Given the description of an element on the screen output the (x, y) to click on. 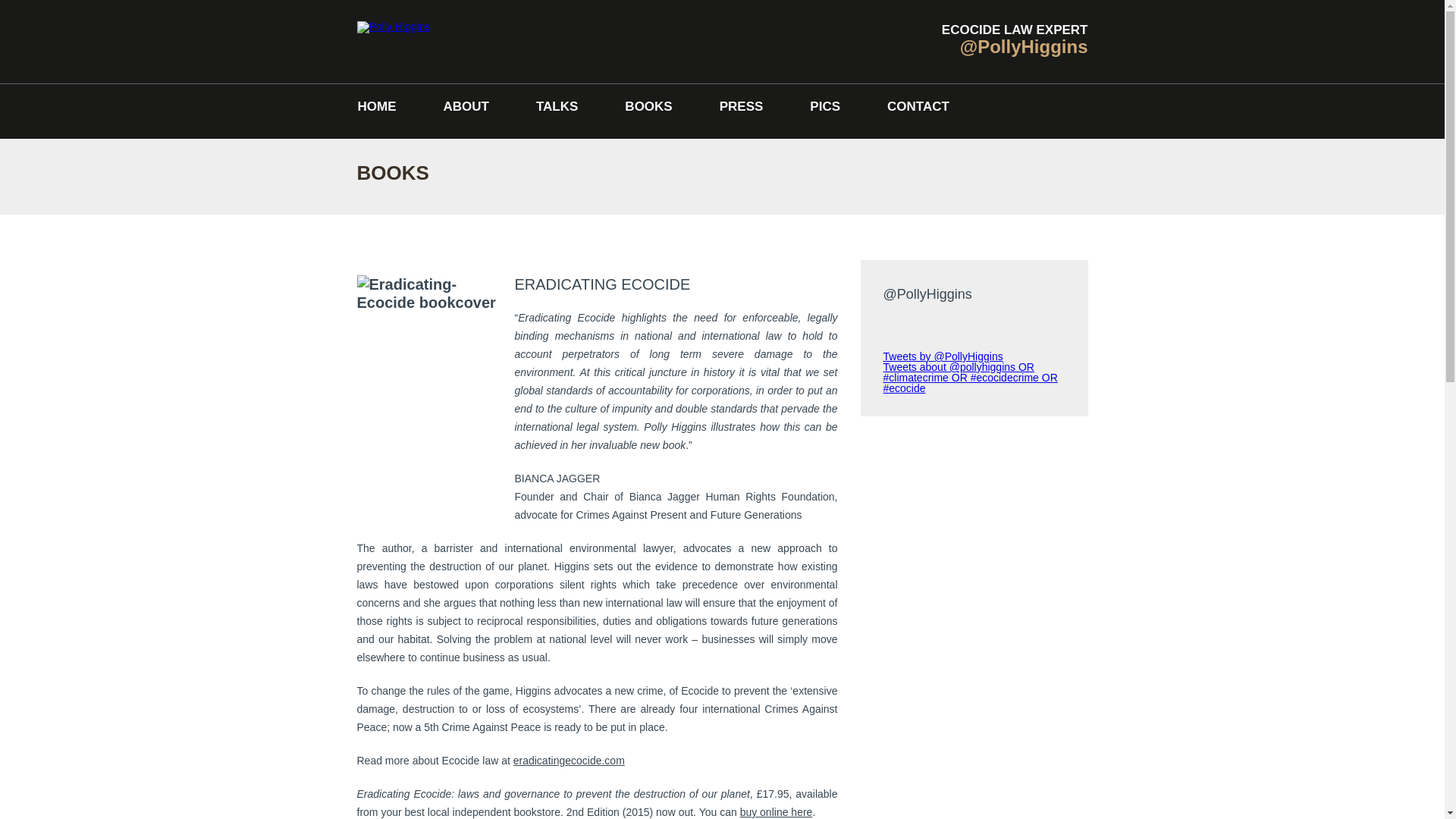
PICS (825, 106)
eradicatingecocide.com (568, 760)
BOOKS (647, 106)
PRESS (741, 106)
eradicatingecocide.com (568, 760)
buy online here (775, 811)
HOME (376, 106)
ABOUT (466, 106)
Polly Higgins (392, 27)
TALKS (556, 106)
CONTACT (918, 106)
Polly Higgins (392, 41)
